Given the description of an element on the screen output the (x, y) to click on. 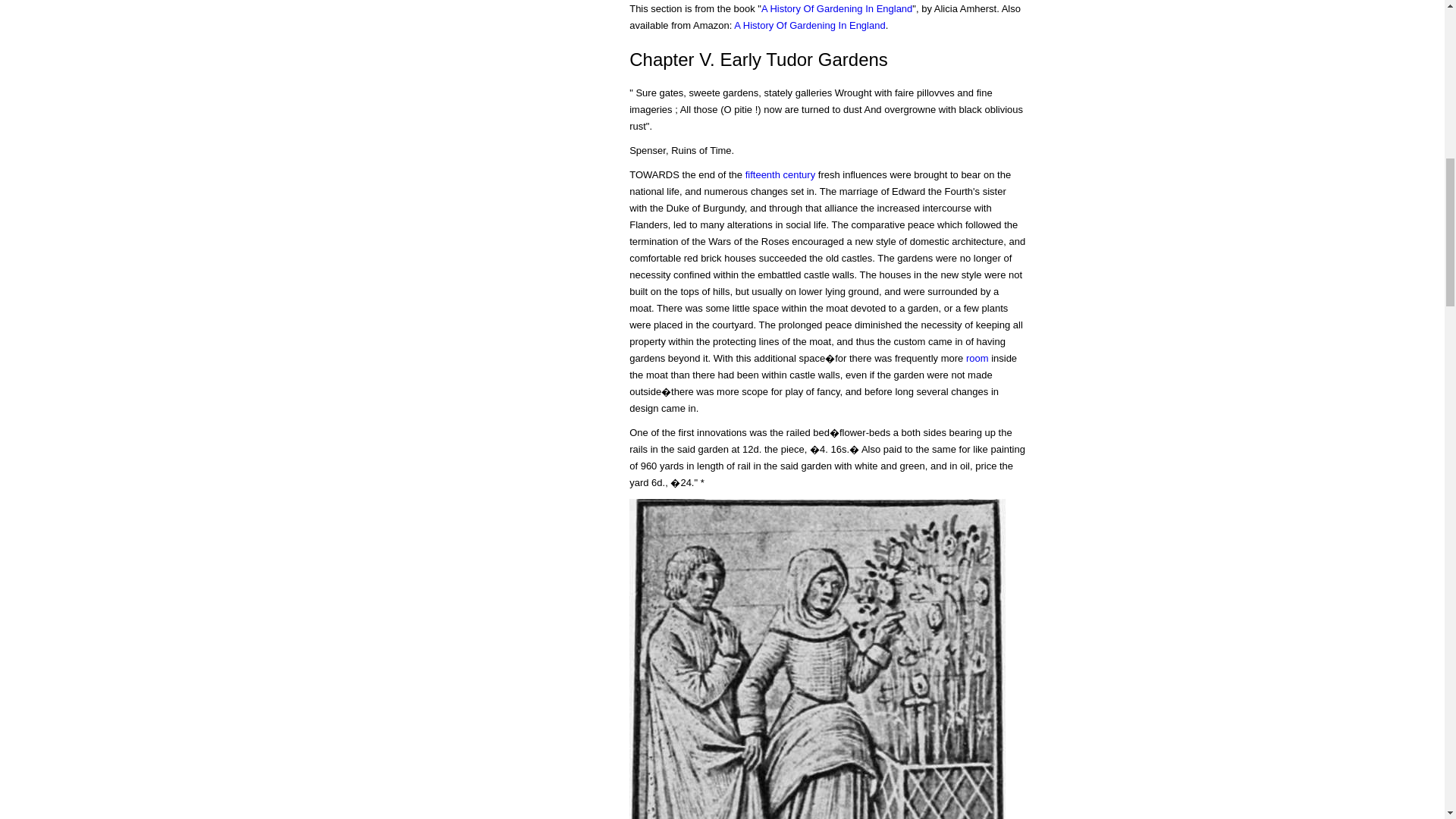
fifteenth century (780, 174)
room (977, 357)
A History Of Gardening In England (836, 8)
A History Of Gardening In England (809, 25)
